Given the description of an element on the screen output the (x, y) to click on. 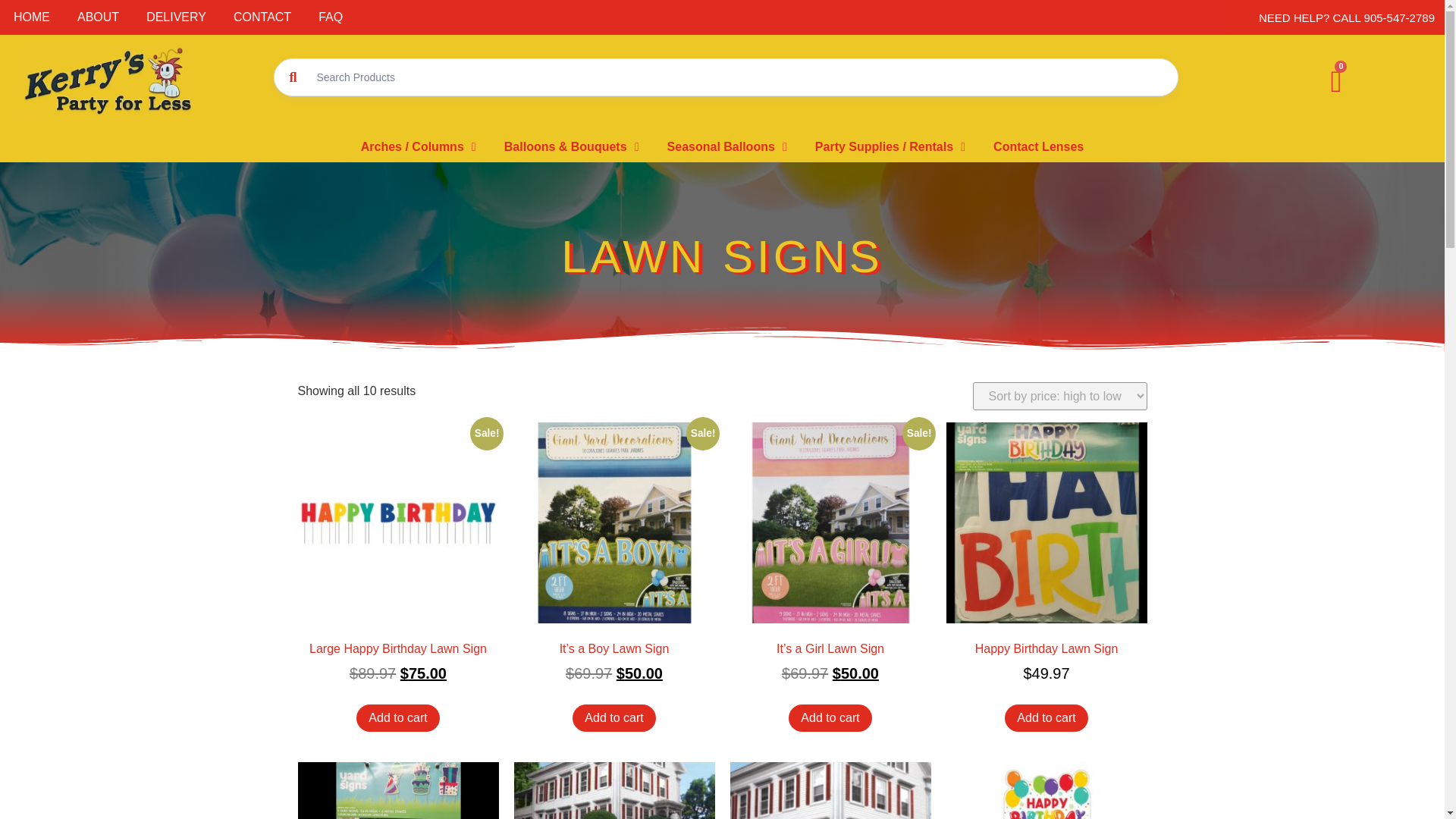
0 (1336, 81)
FAQ (330, 17)
DELIVERY (175, 17)
CONTACT (261, 17)
ABOUT (98, 17)
HOME (32, 17)
